Given the description of an element on the screen output the (x, y) to click on. 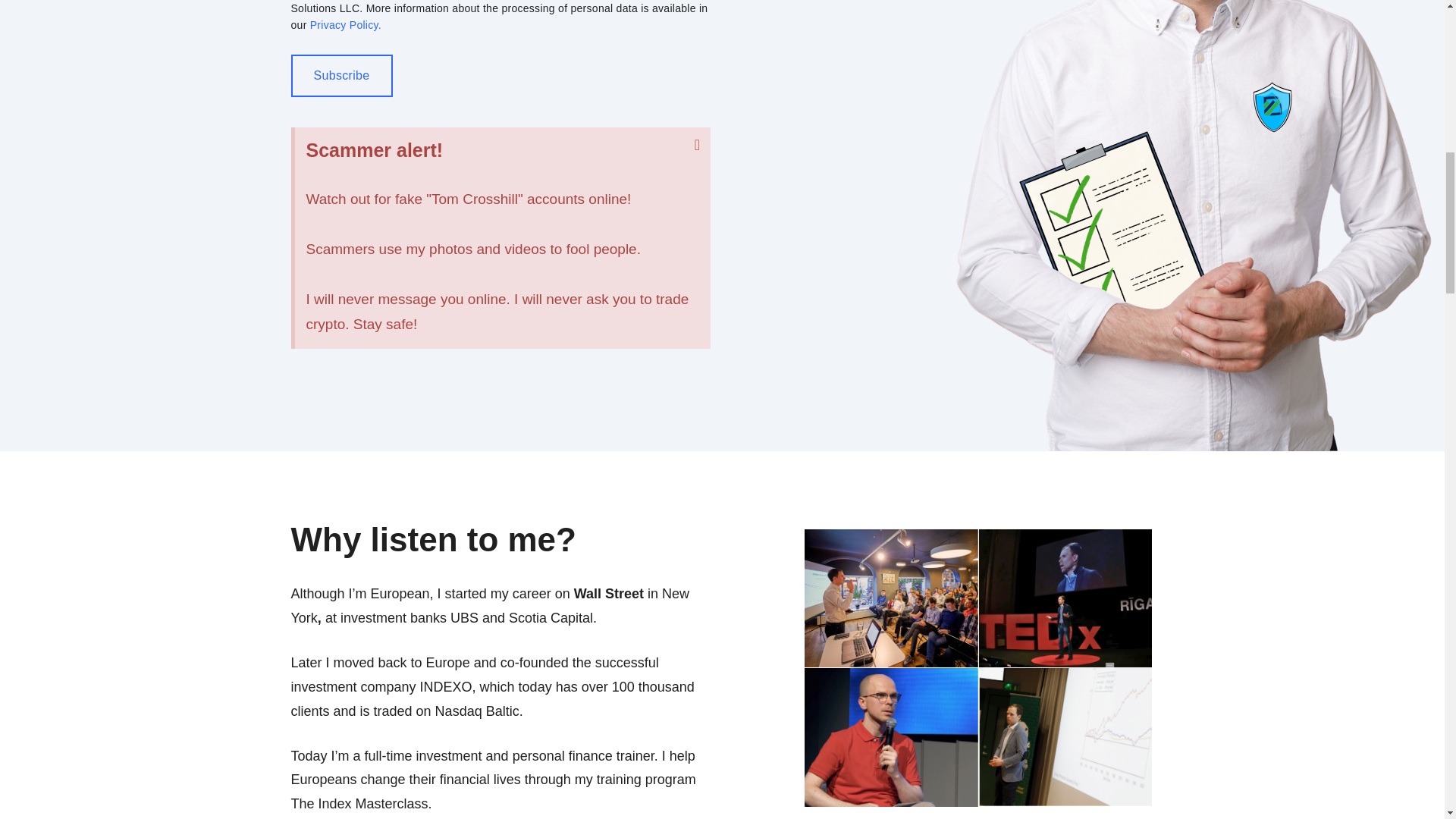
Subscribe (342, 75)
Privacy Policy. (345, 24)
Subscribe (342, 75)
